Given the description of an element on the screen output the (x, y) to click on. 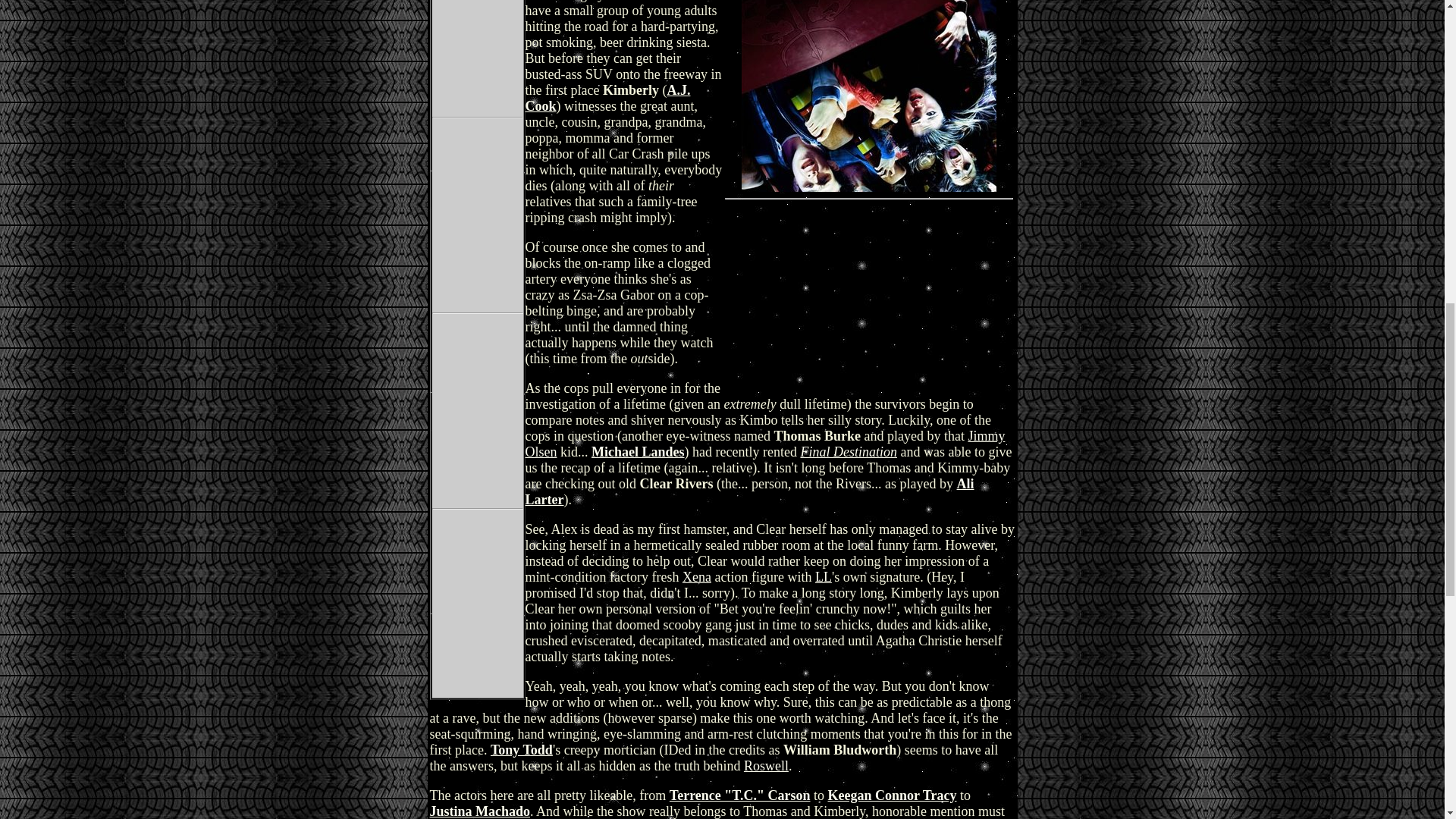
LL (823, 576)
Xena (696, 576)
Advertisement (868, 95)
Ali Larter (749, 490)
Roswell (766, 765)
Justina Machado (479, 811)
Terrence "T.C." Carson (739, 795)
Keegan Connor Tracy (892, 795)
Tony Todd (521, 749)
Jimmy Olsen (764, 443)
Final Destination (847, 451)
Michael Landes (637, 451)
A.J. Cook (607, 97)
